Given the description of an element on the screen output the (x, y) to click on. 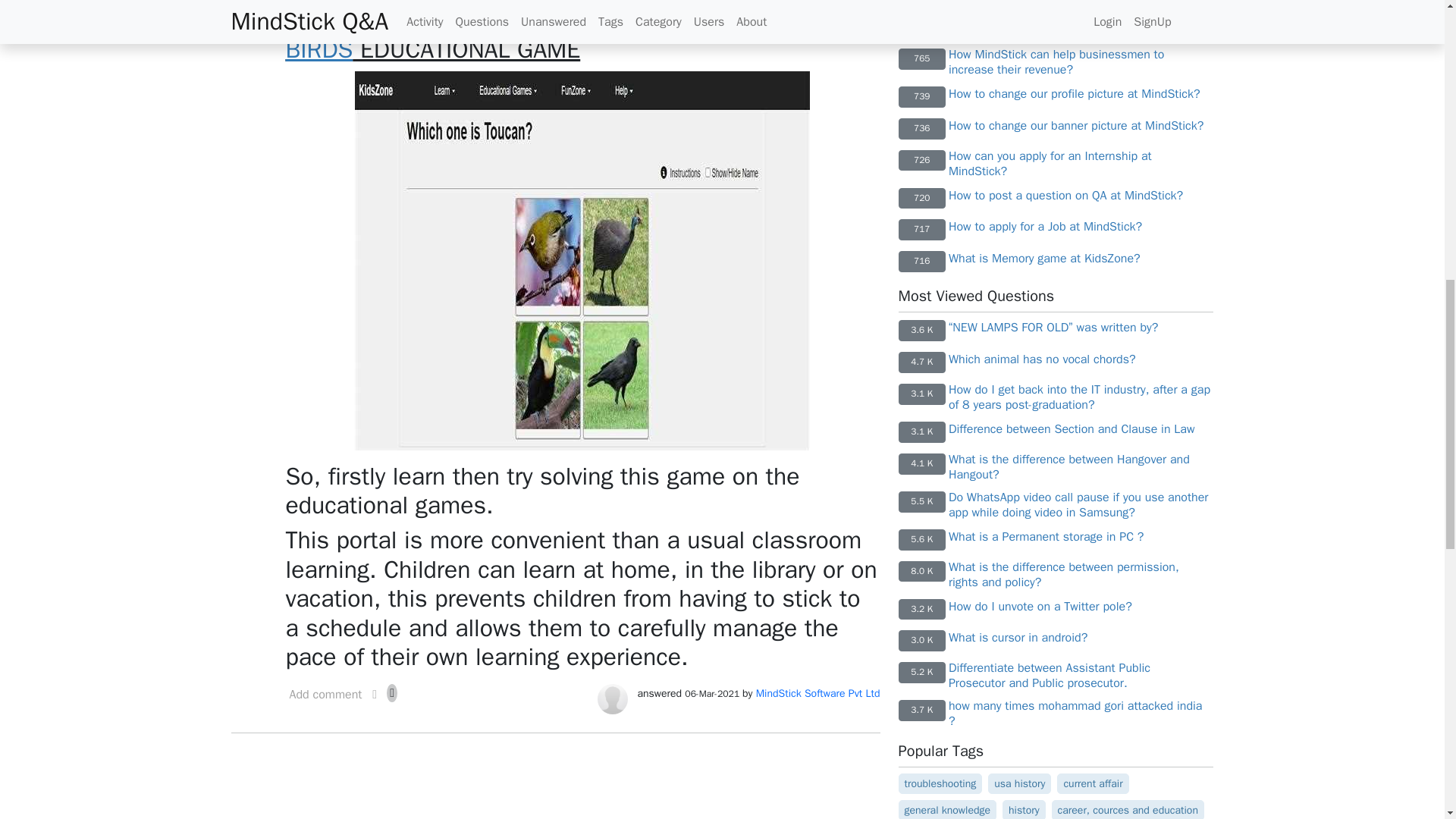
Add comment (325, 698)
BIRDS (318, 49)
Add a comment on this answer (325, 698)
